Given the description of an element on the screen output the (x, y) to click on. 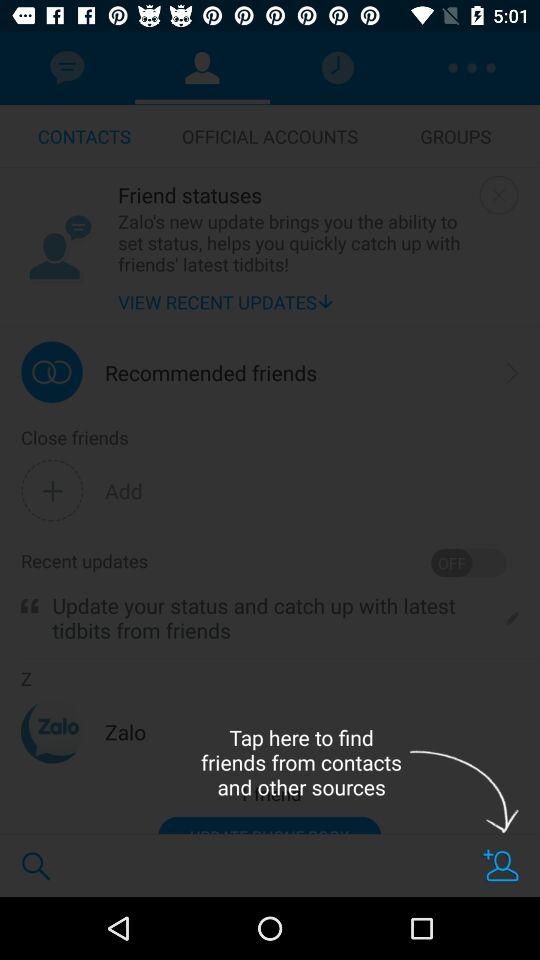
scroll until zalo s new (294, 242)
